Given the description of an element on the screen output the (x, y) to click on. 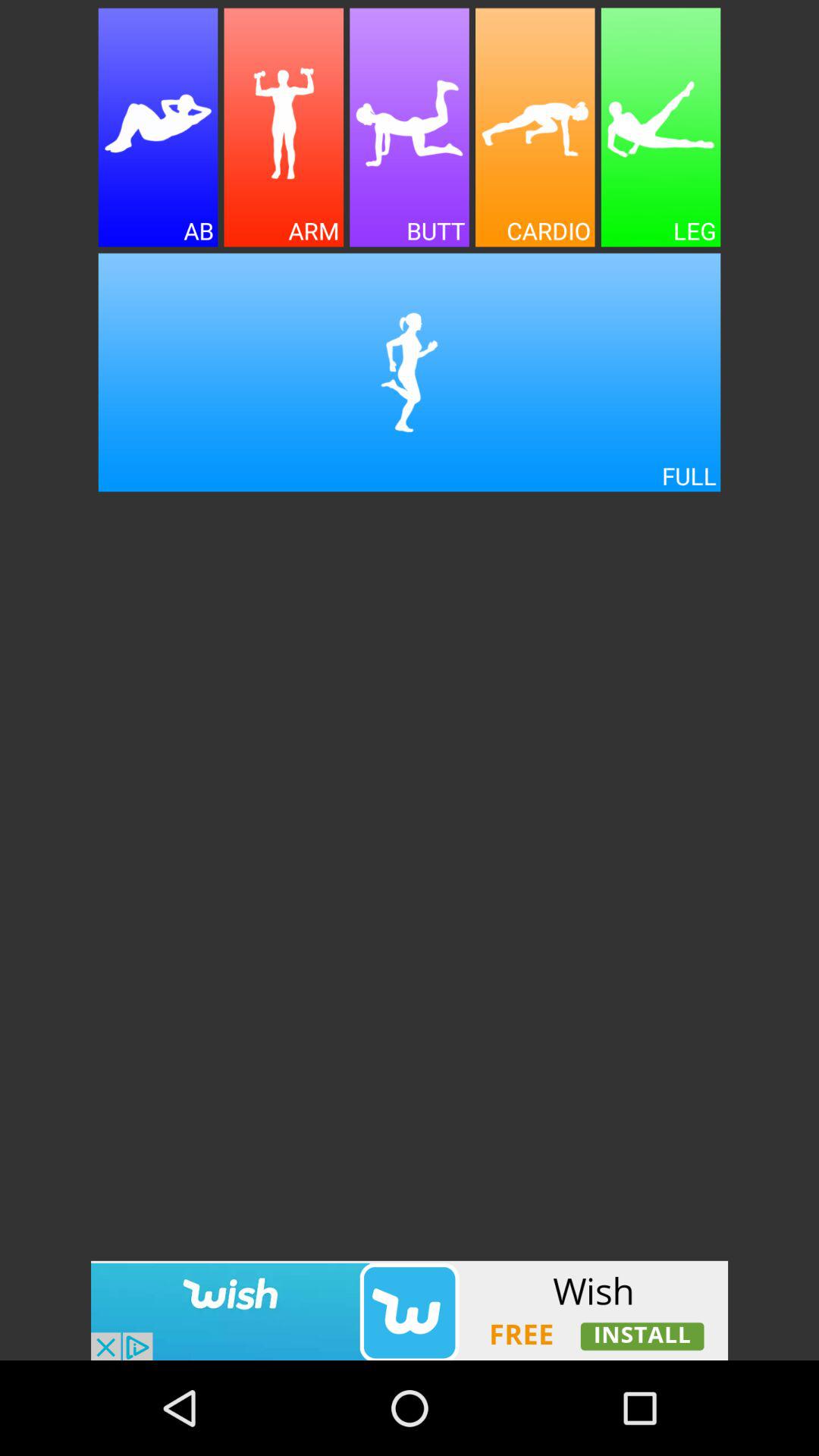
running option (409, 372)
